Given the description of an element on the screen output the (x, y) to click on. 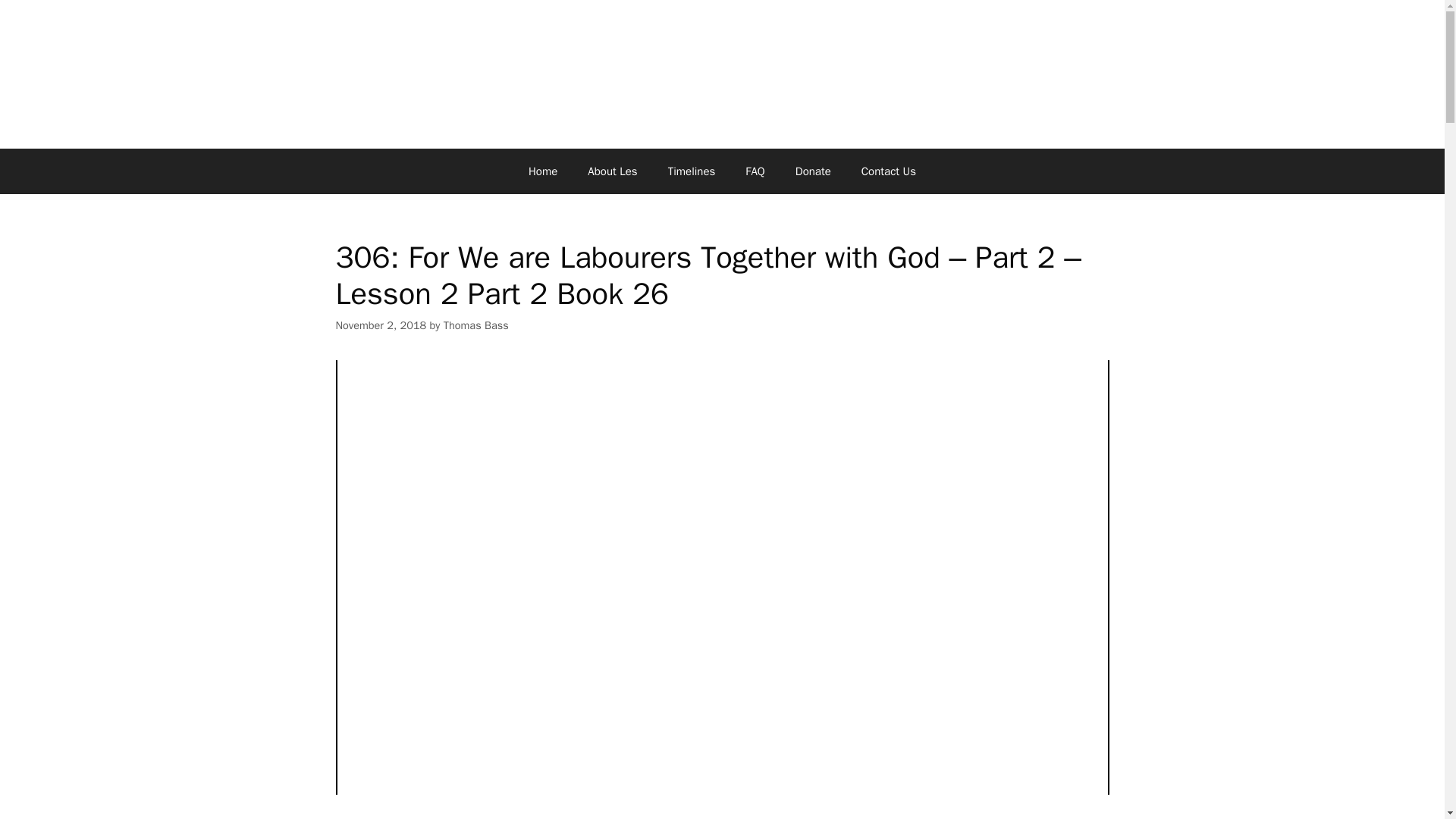
FAQ (754, 171)
Timelines (691, 171)
Home (542, 171)
Thomas Bass (476, 325)
Donate (812, 171)
Les Feldick Bible Study (721, 72)
About Les (612, 171)
Contact Us (888, 171)
Les Feldick Bible Study (721, 71)
View all posts by Thomas Bass (476, 325)
